Given the description of an element on the screen output the (x, y) to click on. 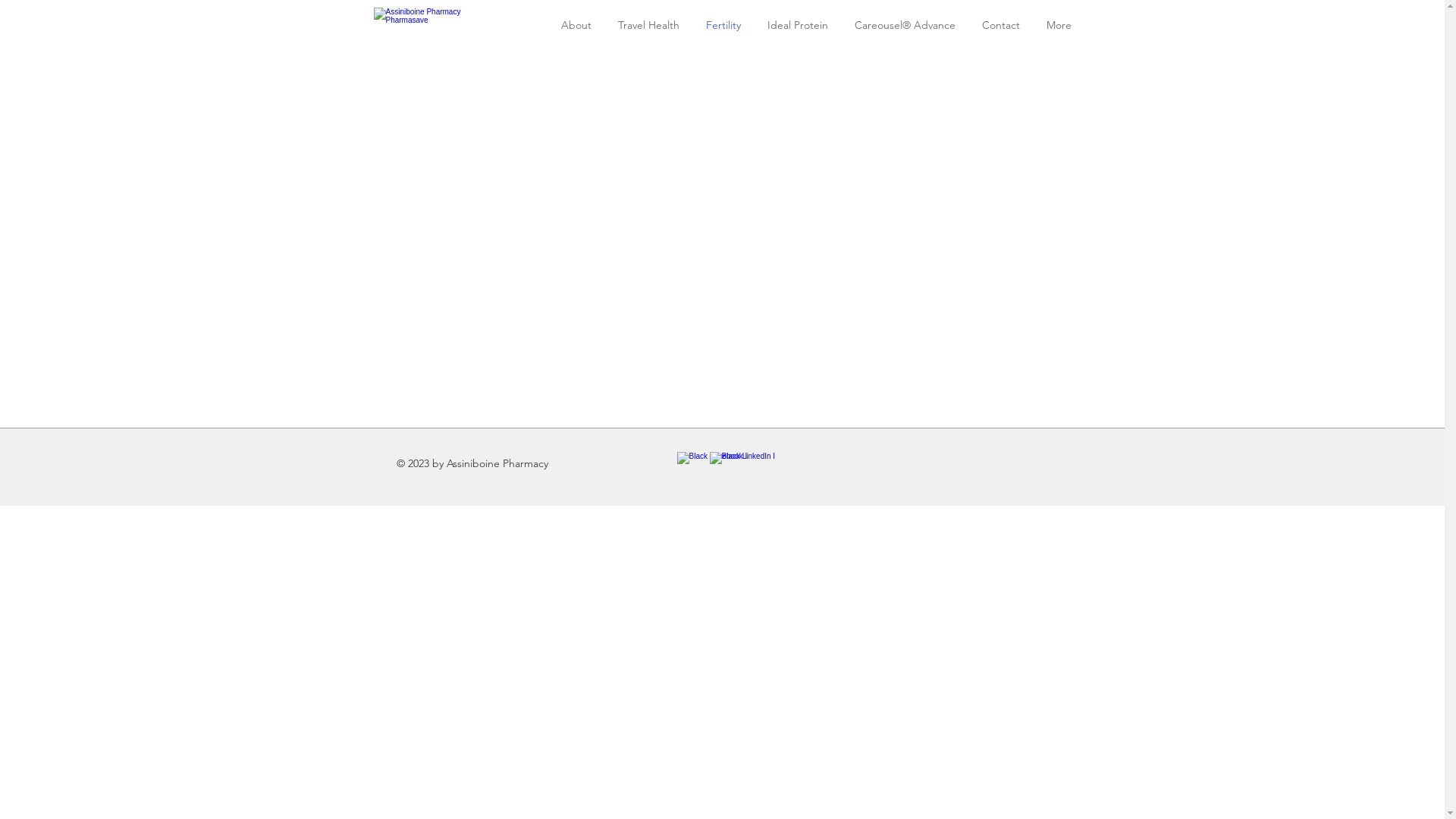
Travel Health Element type: text (649, 25)
Ideal Protein Element type: text (796, 25)
About Element type: text (575, 25)
Fertility Element type: text (723, 25)
Contact Element type: text (1001, 25)
